Given the description of an element on the screen output the (x, y) to click on. 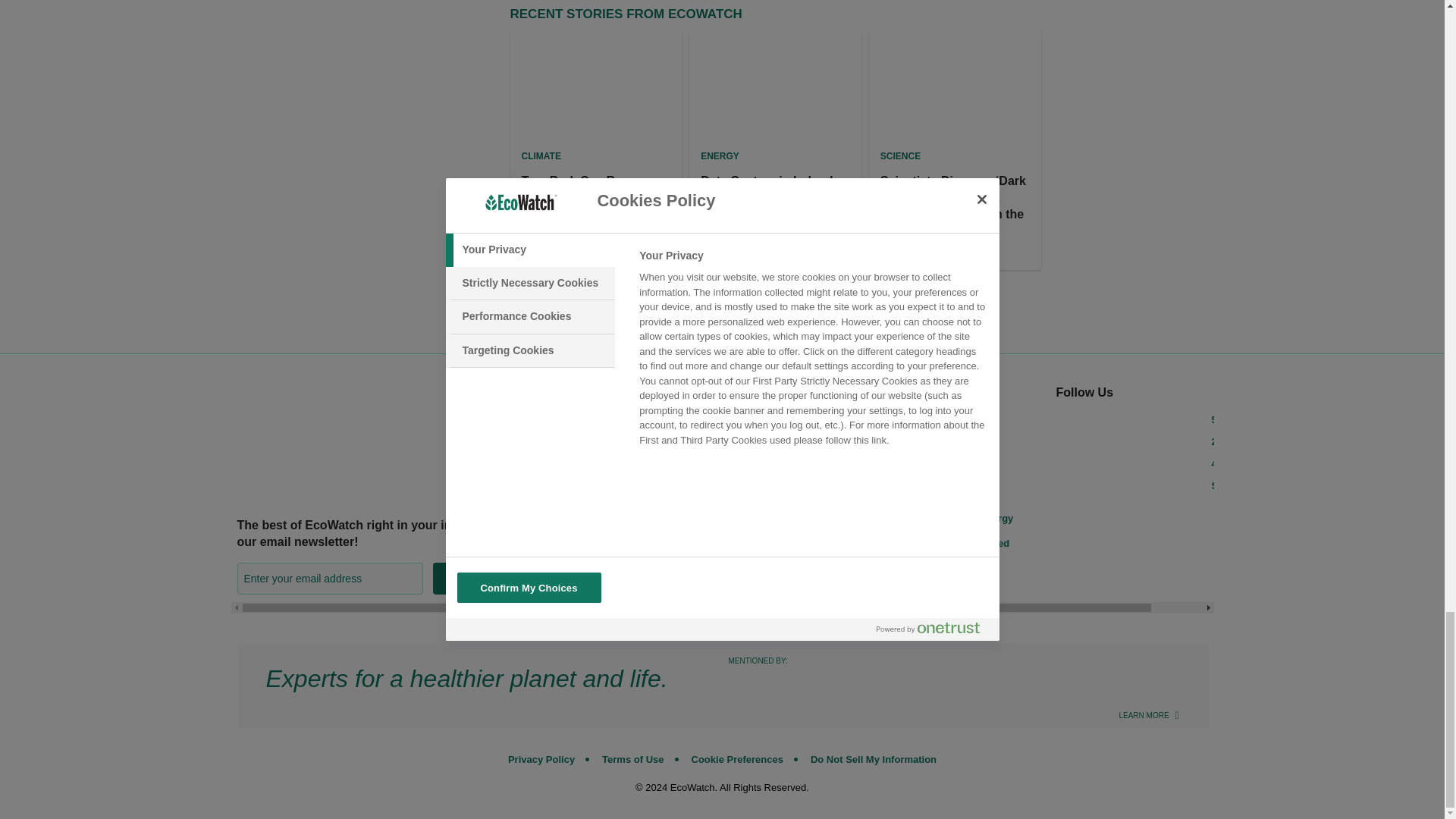
Sign Up (470, 578)
